Given the description of an element on the screen output the (x, y) to click on. 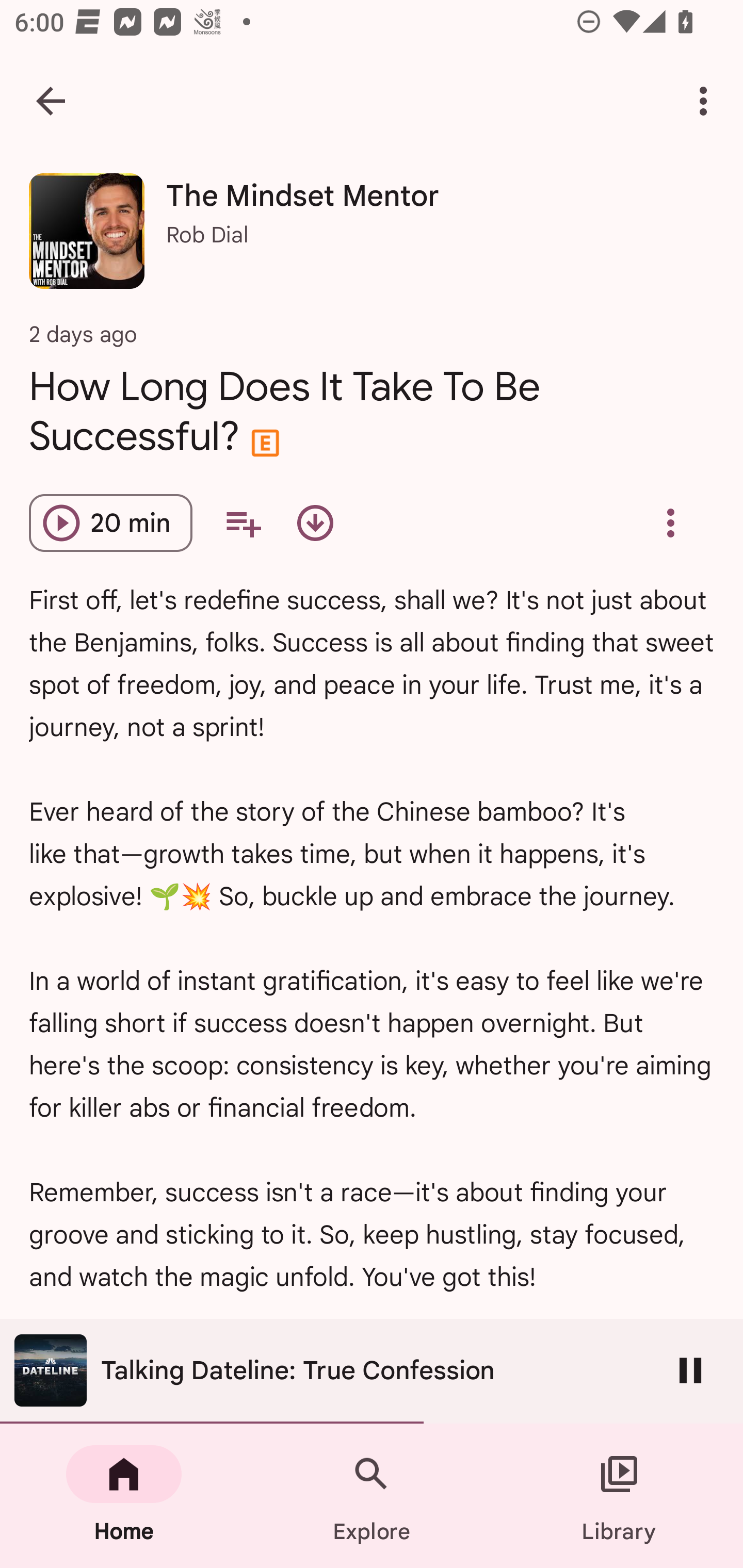
Navigate up (50, 101)
More options (706, 101)
The Mindset Mentor The Mindset Mentor Rob Dial (371, 238)
Add to your queue (242, 522)
Download episode (315, 522)
Overflow menu (670, 522)
Pause (690, 1370)
Explore (371, 1495)
Library (619, 1495)
